Given the description of an element on the screen output the (x, y) to click on. 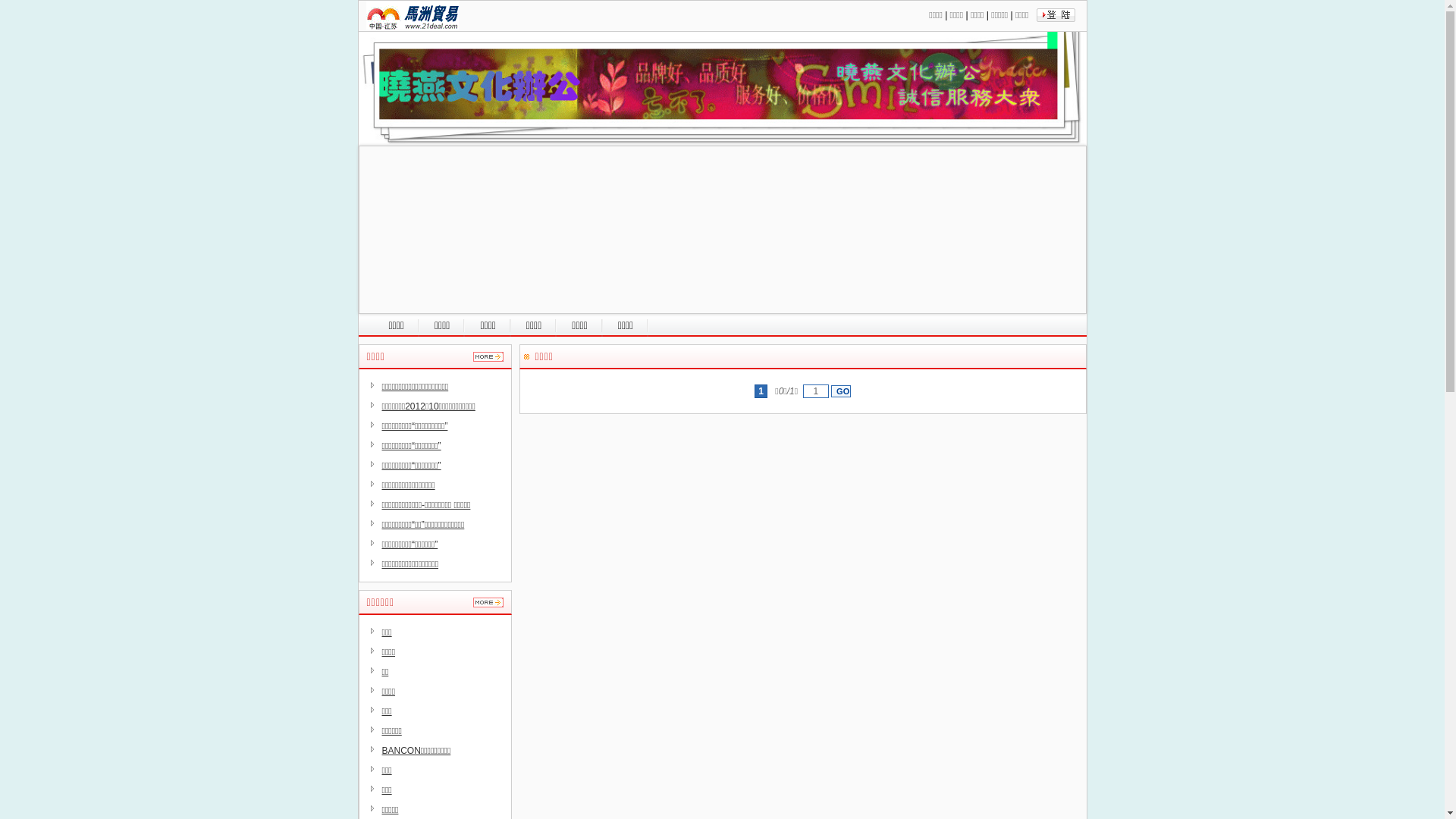
GO Element type: text (840, 391)
